Given the description of an element on the screen output the (x, y) to click on. 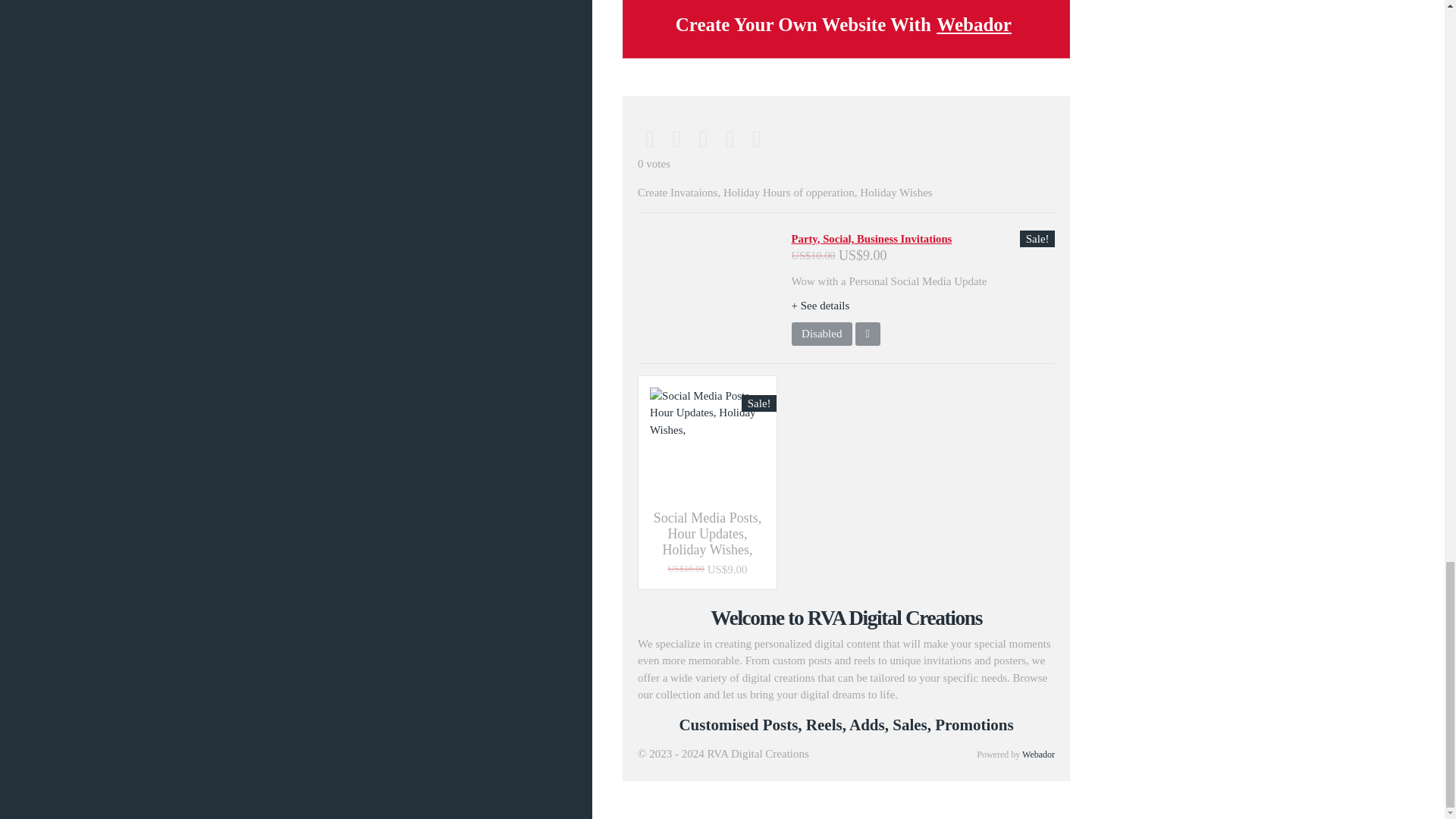
Social Media Posts, Hour Updates, Holiday Wishes, (707, 533)
Disabled (821, 334)
3 stars (703, 138)
Party, Social, Business Invitations (872, 238)
1 star (649, 138)
Webador (1038, 754)
5 stars (756, 138)
2 stars (676, 138)
Disabled (821, 334)
Webador (973, 25)
Add to wishlist (868, 334)
